Given the description of an element on the screen output the (x, y) to click on. 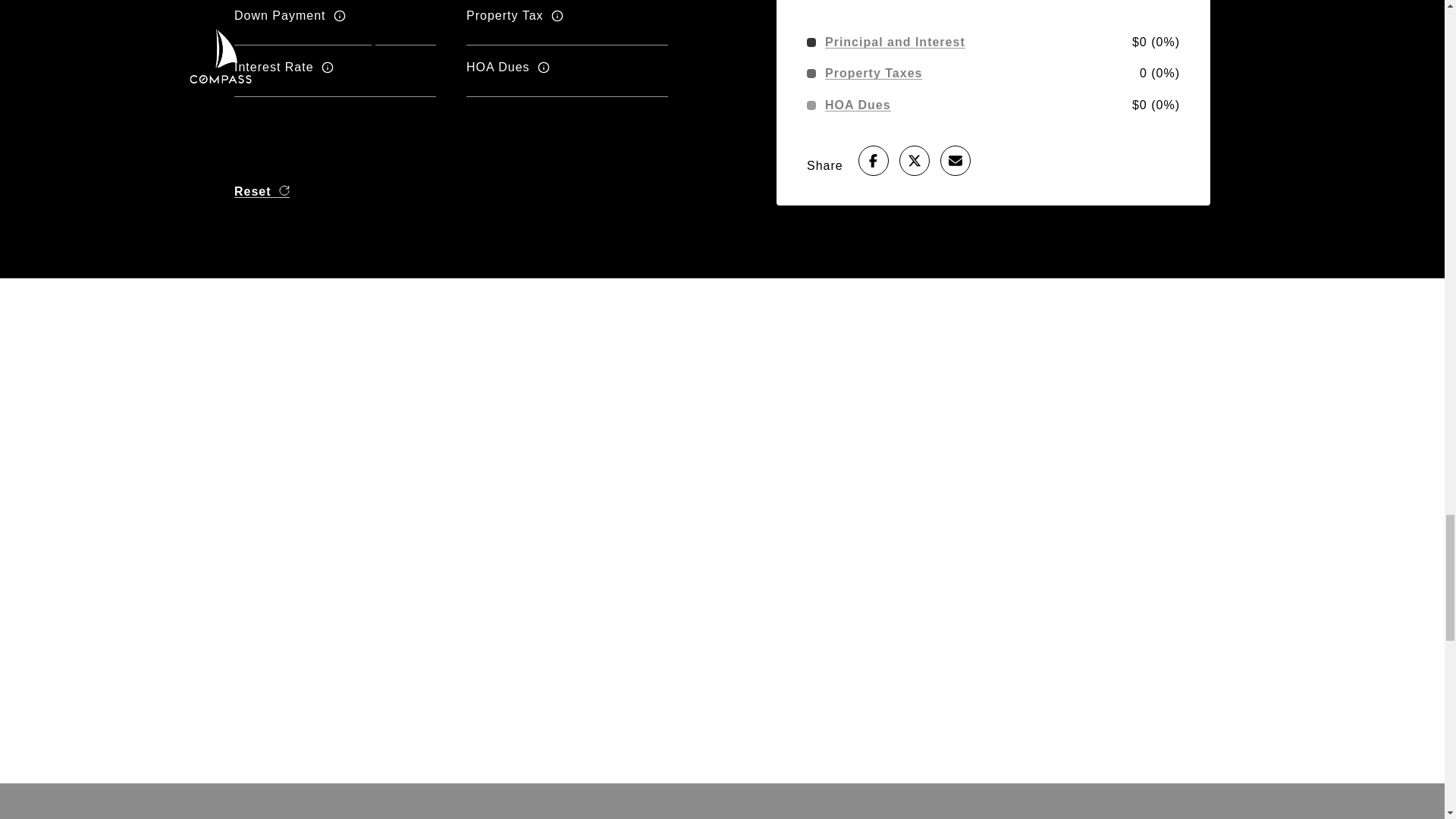
HOA Dues (858, 105)
Principal and Interest (895, 42)
Reset (261, 191)
Property Taxes (873, 73)
